Given the description of an element on the screen output the (x, y) to click on. 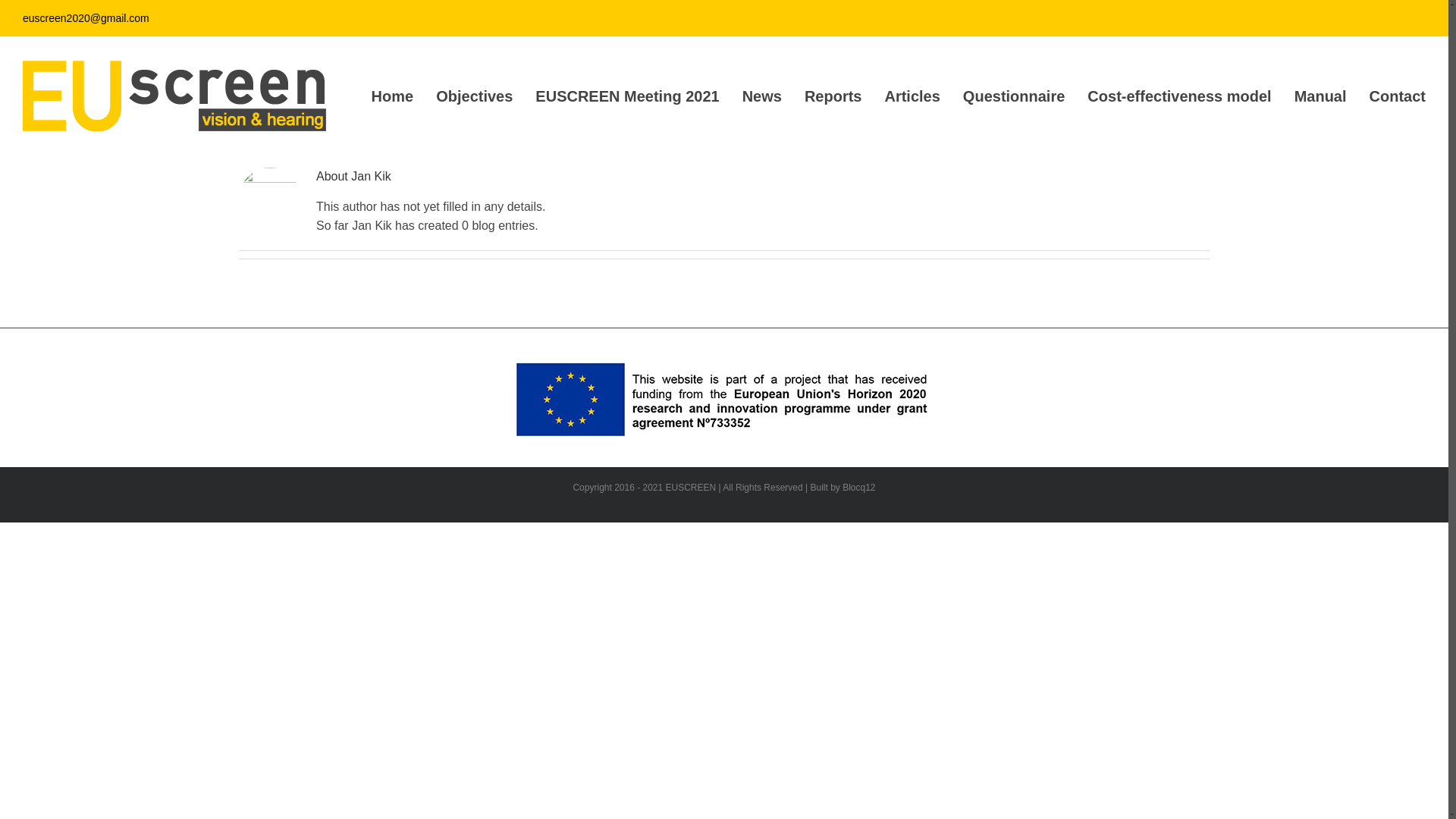
Cost-effectiveness model (1179, 95)
EUSCREEN Meeting 2021 (627, 95)
Home (707, 7)
